Given the description of an element on the screen output the (x, y) to click on. 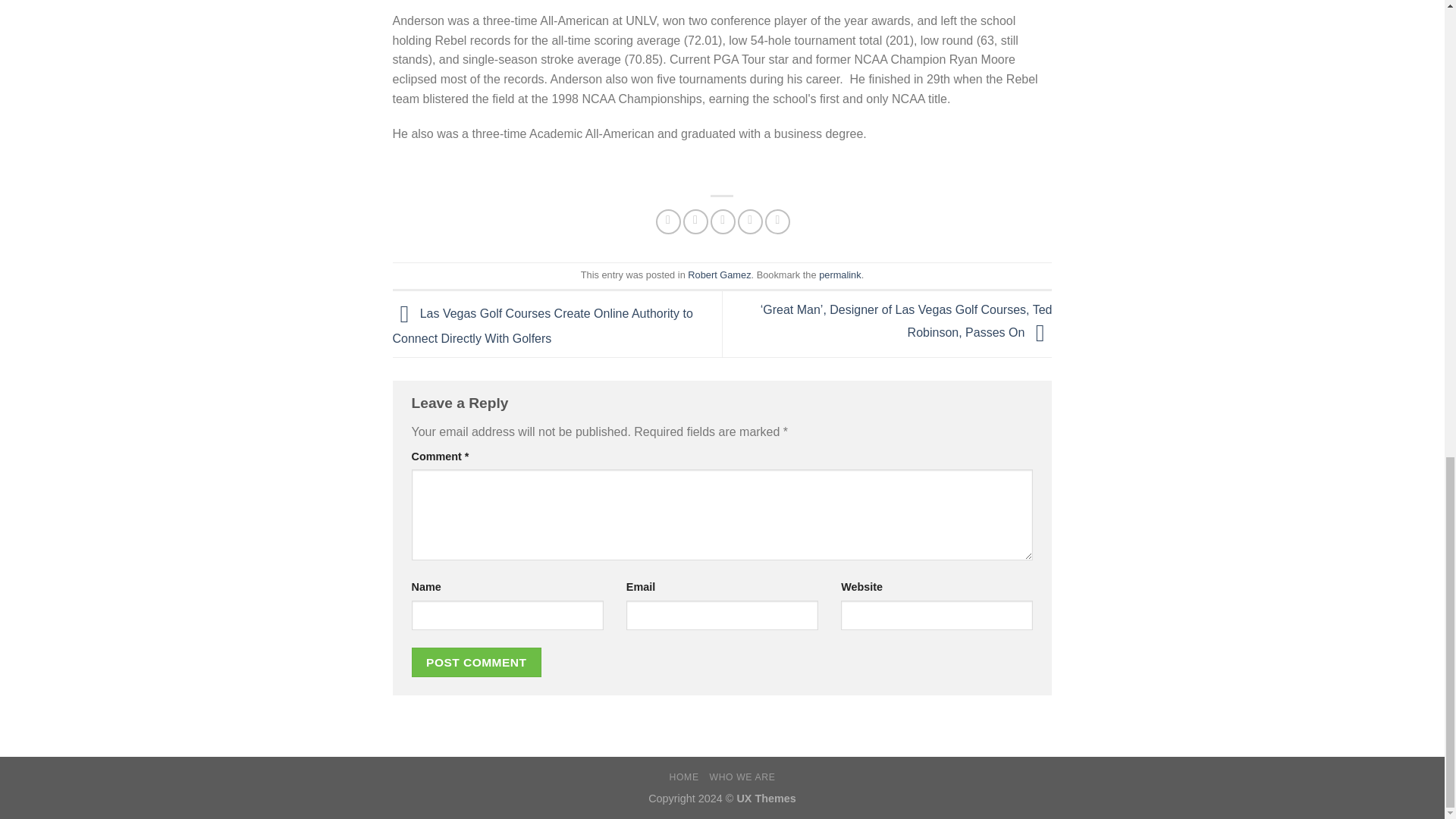
HOME (683, 777)
WHO WE ARE (741, 777)
Robert Gamez (719, 274)
permalink (839, 274)
Post Comment (475, 662)
Post Comment (475, 662)
